Given the description of an element on the screen output the (x, y) to click on. 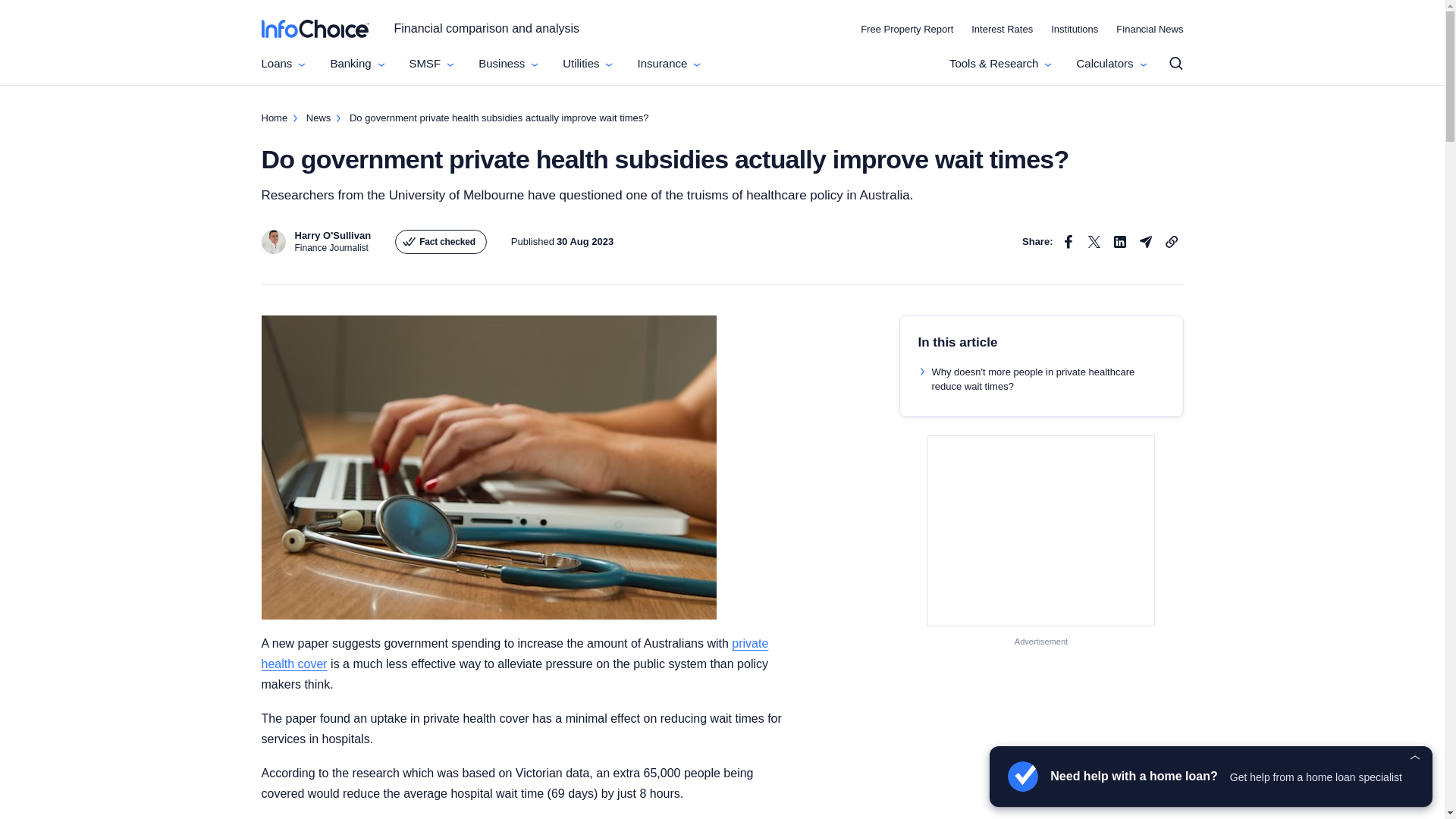
Share on LinkedIn (1118, 241)
3rd party ad content (1041, 530)
Share via Email (1144, 241)
Share on Twitter (1093, 241)
Copy Link (1170, 241)
Share on Facebook (1067, 241)
